Given the description of an element on the screen output the (x, y) to click on. 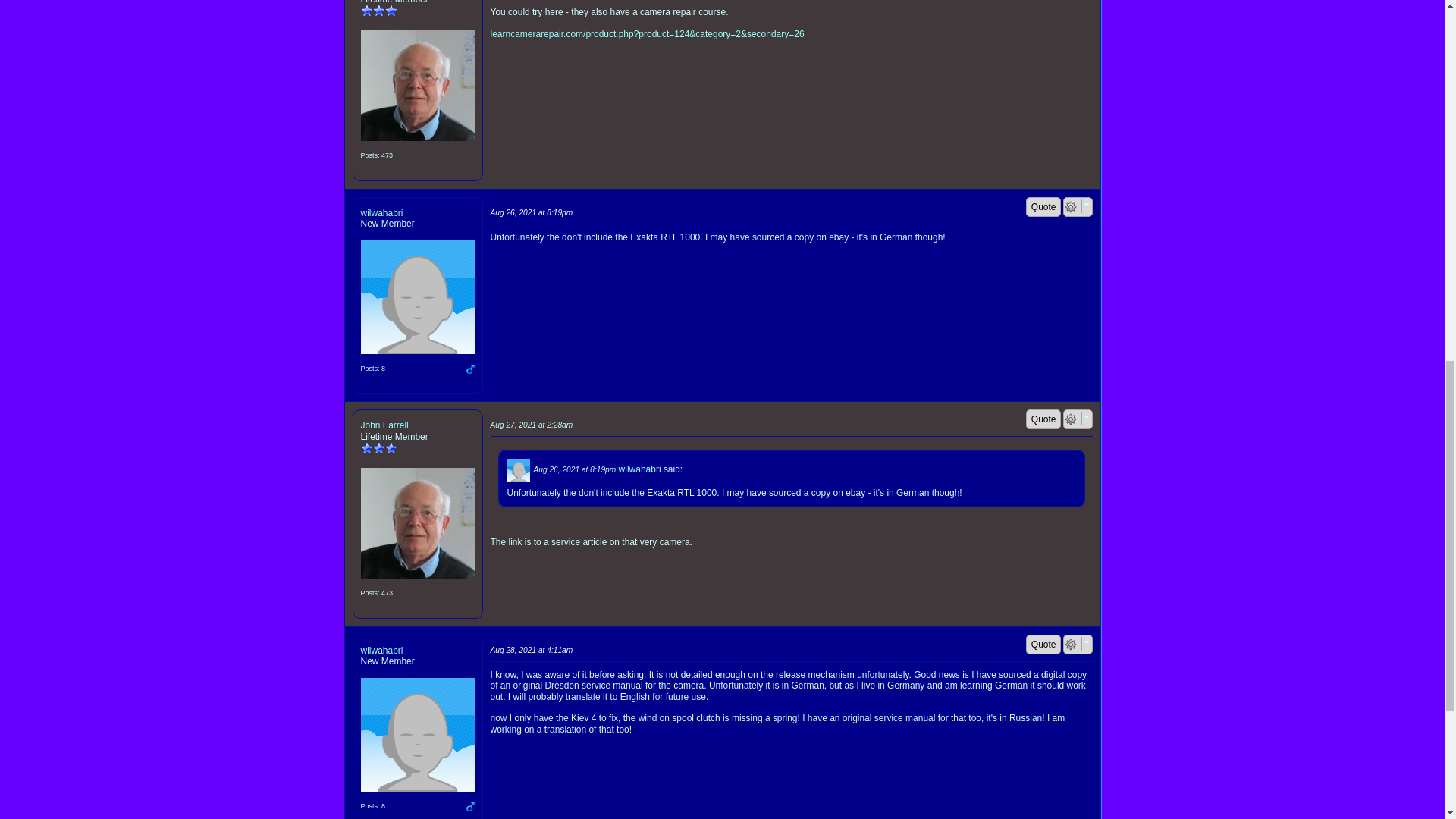
Male (469, 368)
wilwahabri (417, 296)
John Farrell (417, 85)
